Given the description of an element on the screen output the (x, y) to click on. 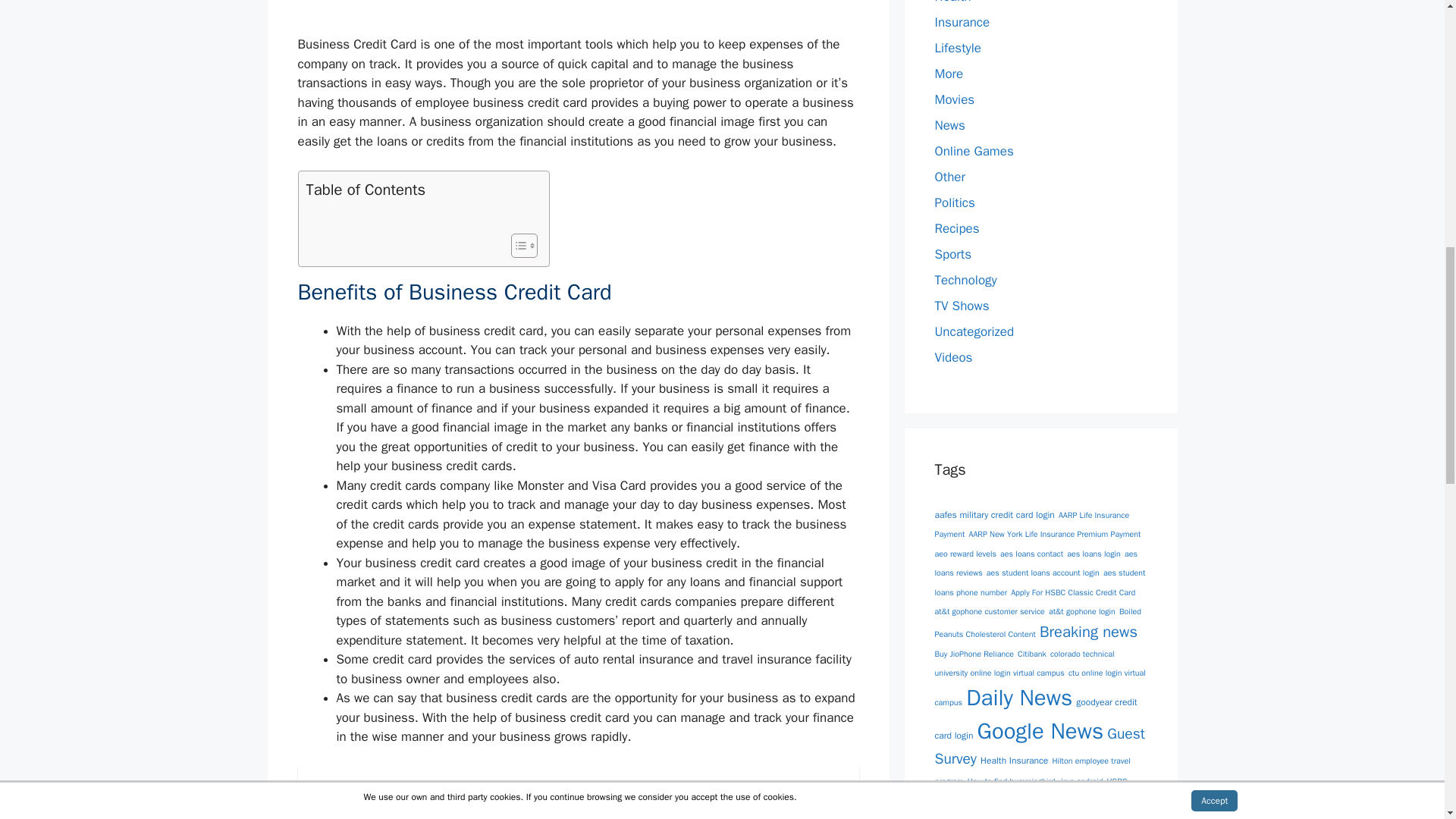
Scroll back to top (1406, 720)
Advertisement (576, 11)
See also  Baldwinemc.com Bill Payment Method: Pay Online (578, 788)
